Given the description of an element on the screen output the (x, y) to click on. 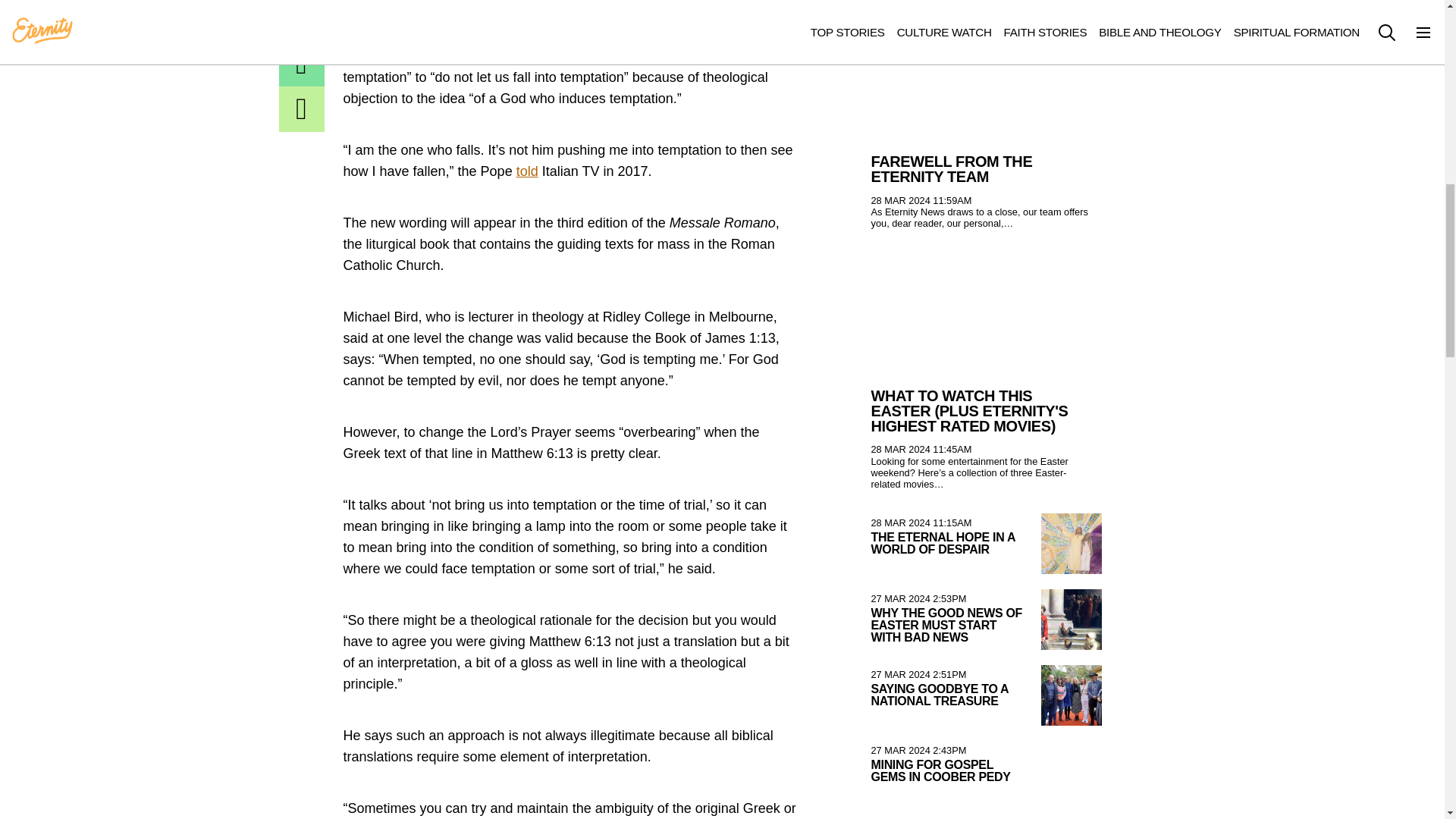
Share via Email (301, 63)
Share via WhatsApp (301, 20)
told (527, 171)
Copy link (301, 108)
